Given the description of an element on the screen output the (x, y) to click on. 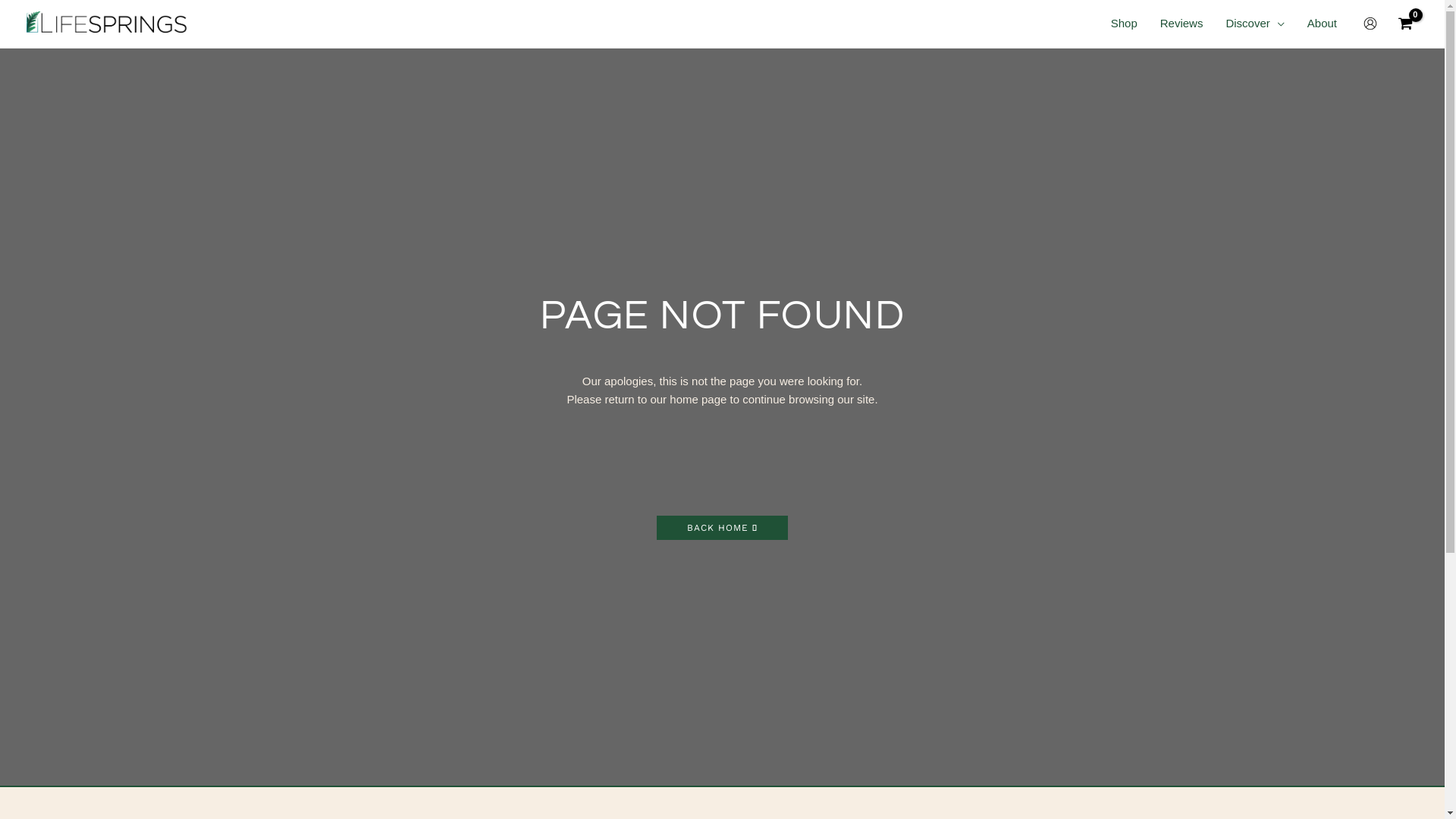
About Element type: text (1321, 23)
Shop Element type: text (1123, 23)
Discover Element type: text (1254, 23)
Reviews Element type: text (1181, 23)
